Given the description of an element on the screen output the (x, y) to click on. 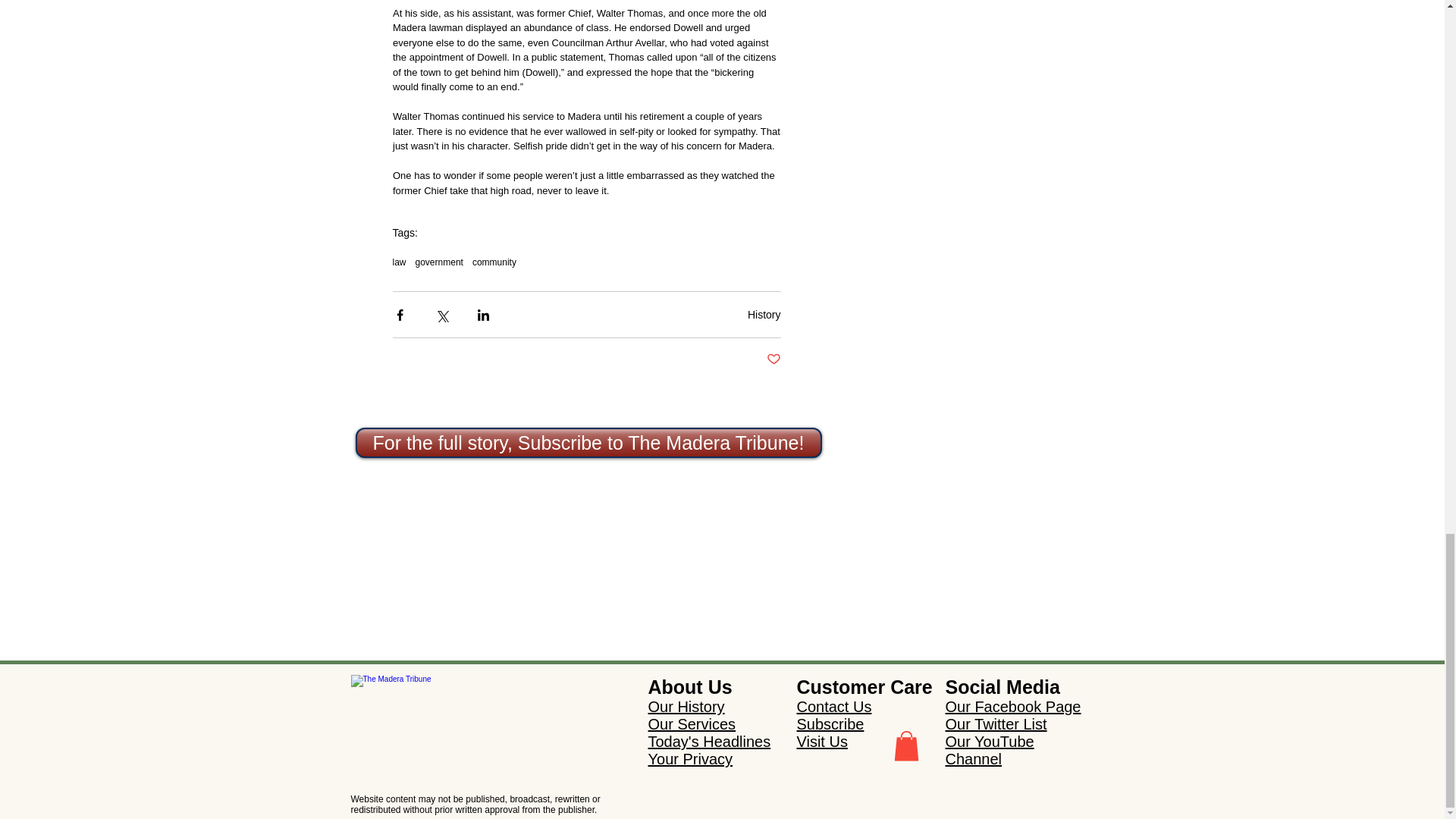
Our Facebook Page (1012, 706)
Our Services (691, 723)
Subscribe (829, 723)
History (764, 314)
Reload the latest headlines (455, 687)
Our History (685, 706)
government (438, 262)
Visit Us (821, 741)
Post not marked as liked (772, 359)
Our YouTube Channel (988, 750)
Your Privacy (689, 759)
Our Twitter List (995, 723)
Today's Headlines (708, 741)
Contact Us (833, 706)
community (493, 262)
